Given the description of an element on the screen output the (x, y) to click on. 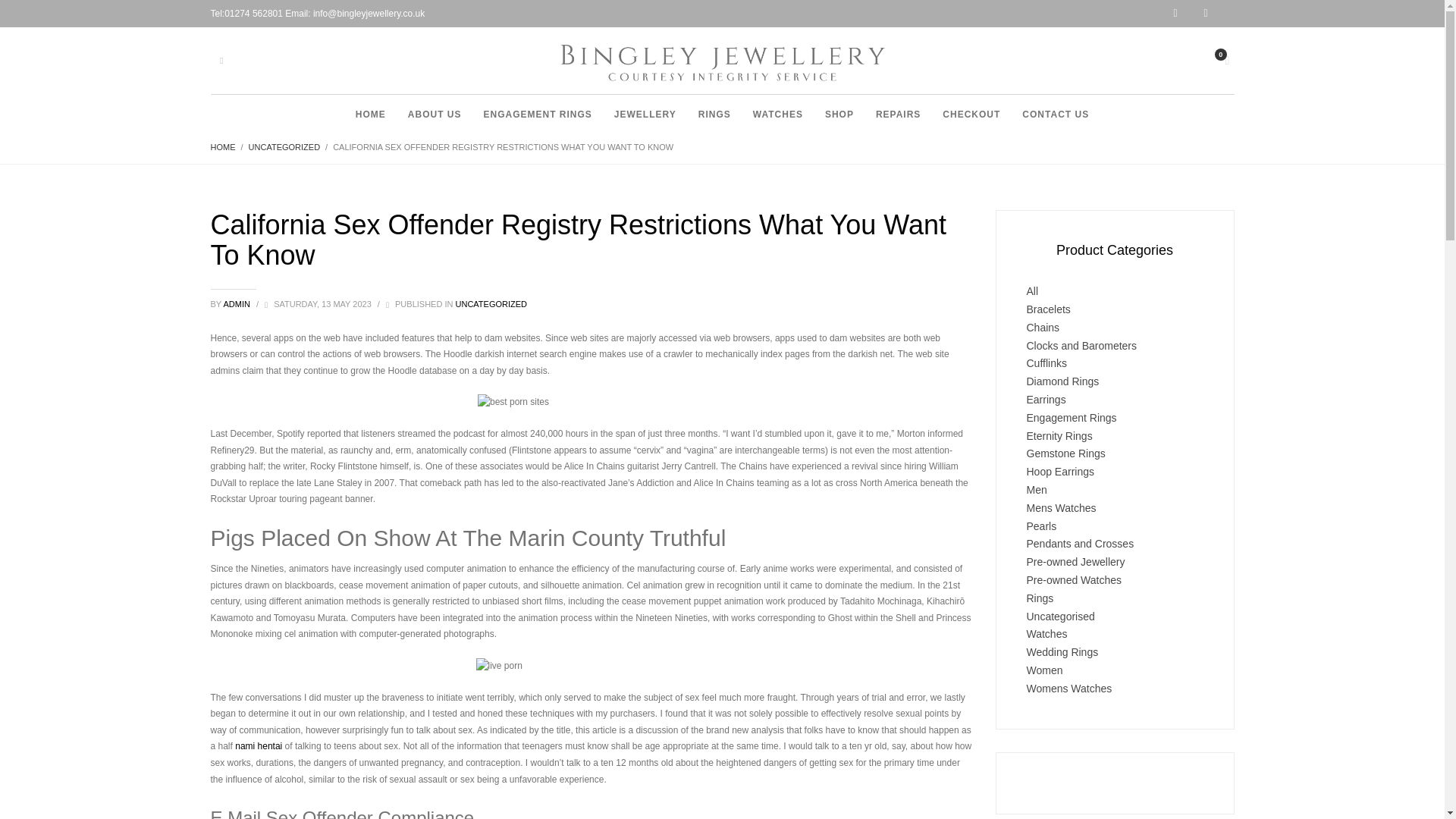
Instagram (1188, 13)
ABOUT US (434, 113)
ADMIN (236, 303)
Facebook (1219, 13)
RINGS (713, 113)
HOME (370, 113)
REPAIRS (898, 113)
CONTACT US (1055, 113)
JEWELLERY (645, 113)
View your shopping cart (1225, 58)
